Given the description of an element on the screen output the (x, y) to click on. 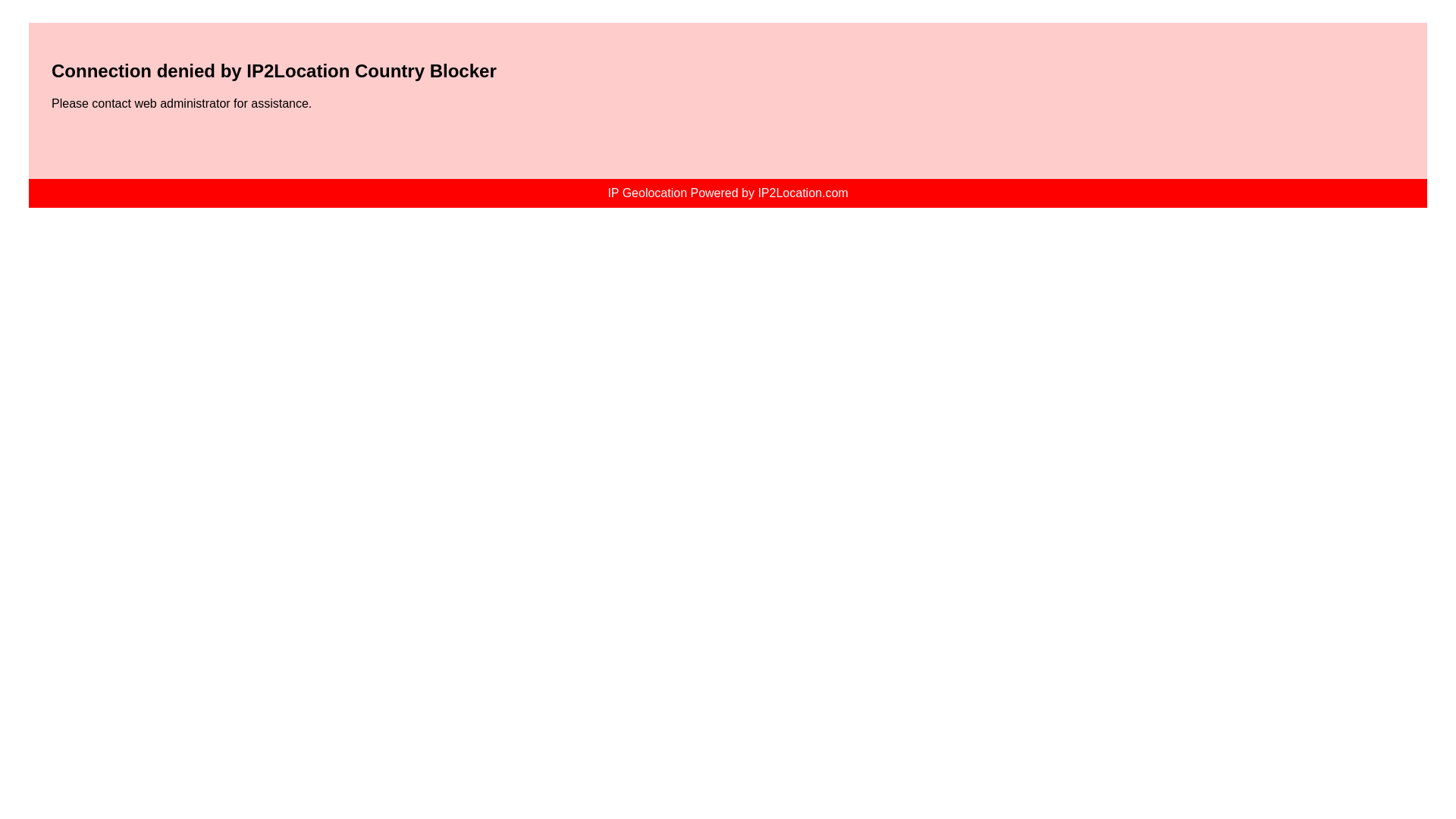
IP Geolocation Powered by IP2Location.com (727, 192)
